Given the description of an element on the screen output the (x, y) to click on. 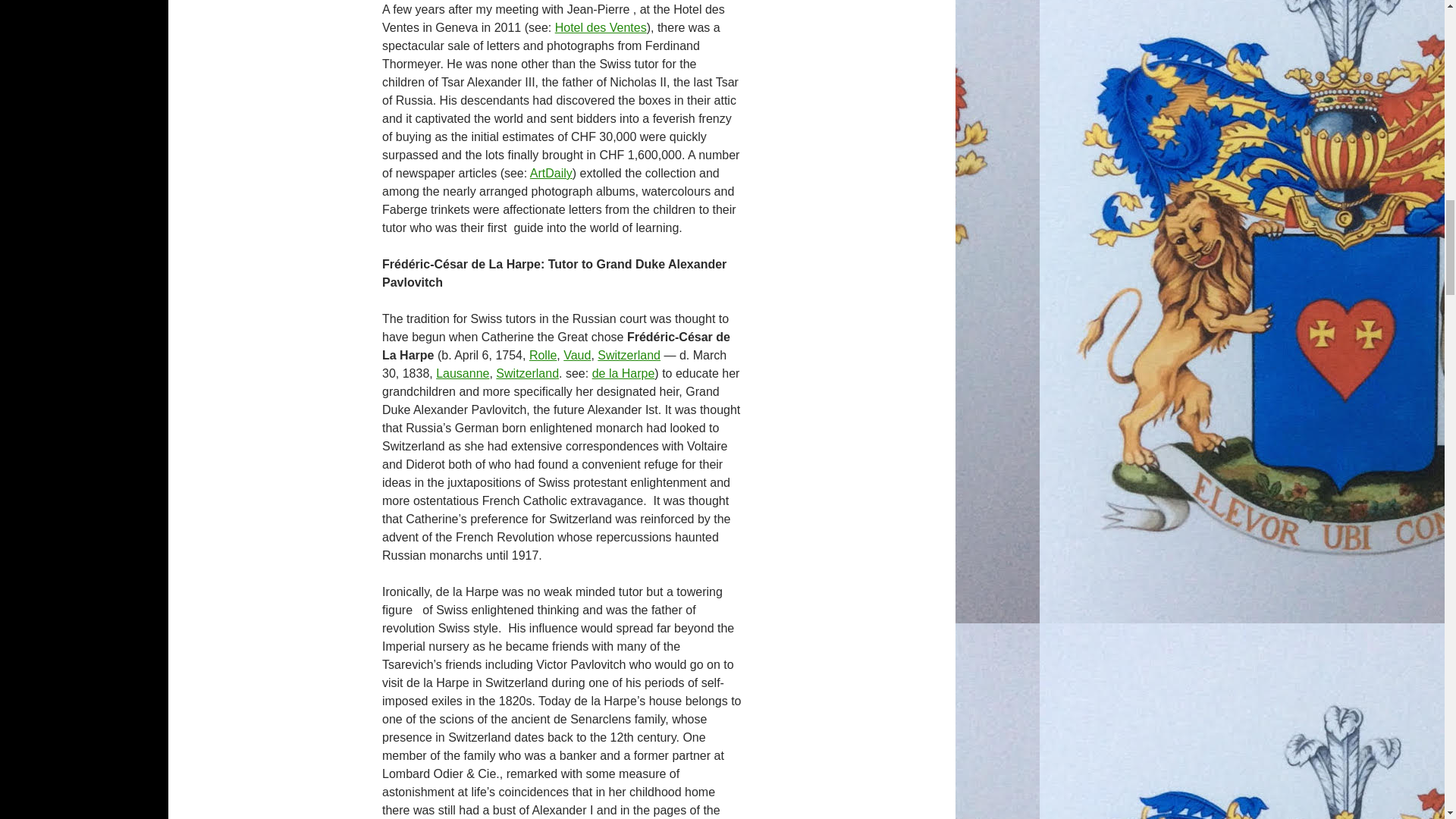
Lausanne (462, 373)
Rolle (542, 354)
Vaud (577, 354)
Switzerland (527, 373)
Switzerland (628, 354)
